Given the description of an element on the screen output the (x, y) to click on. 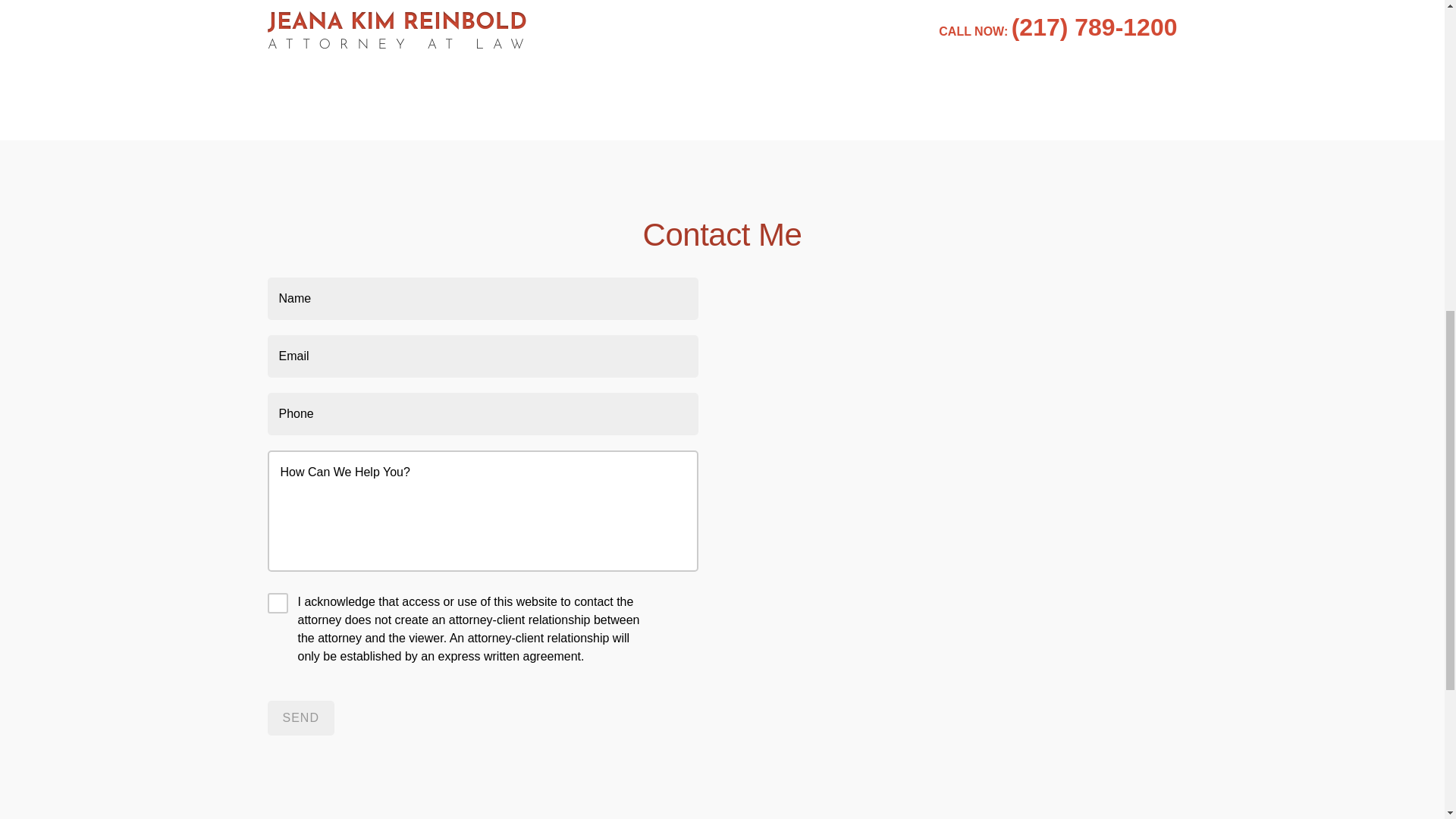
Chapter 7 Bankruptcy (363, 29)
Send (299, 718)
Send (299, 718)
Chapter 13 Bankruptcy (366, 4)
